Given the description of an element on the screen output the (x, y) to click on. 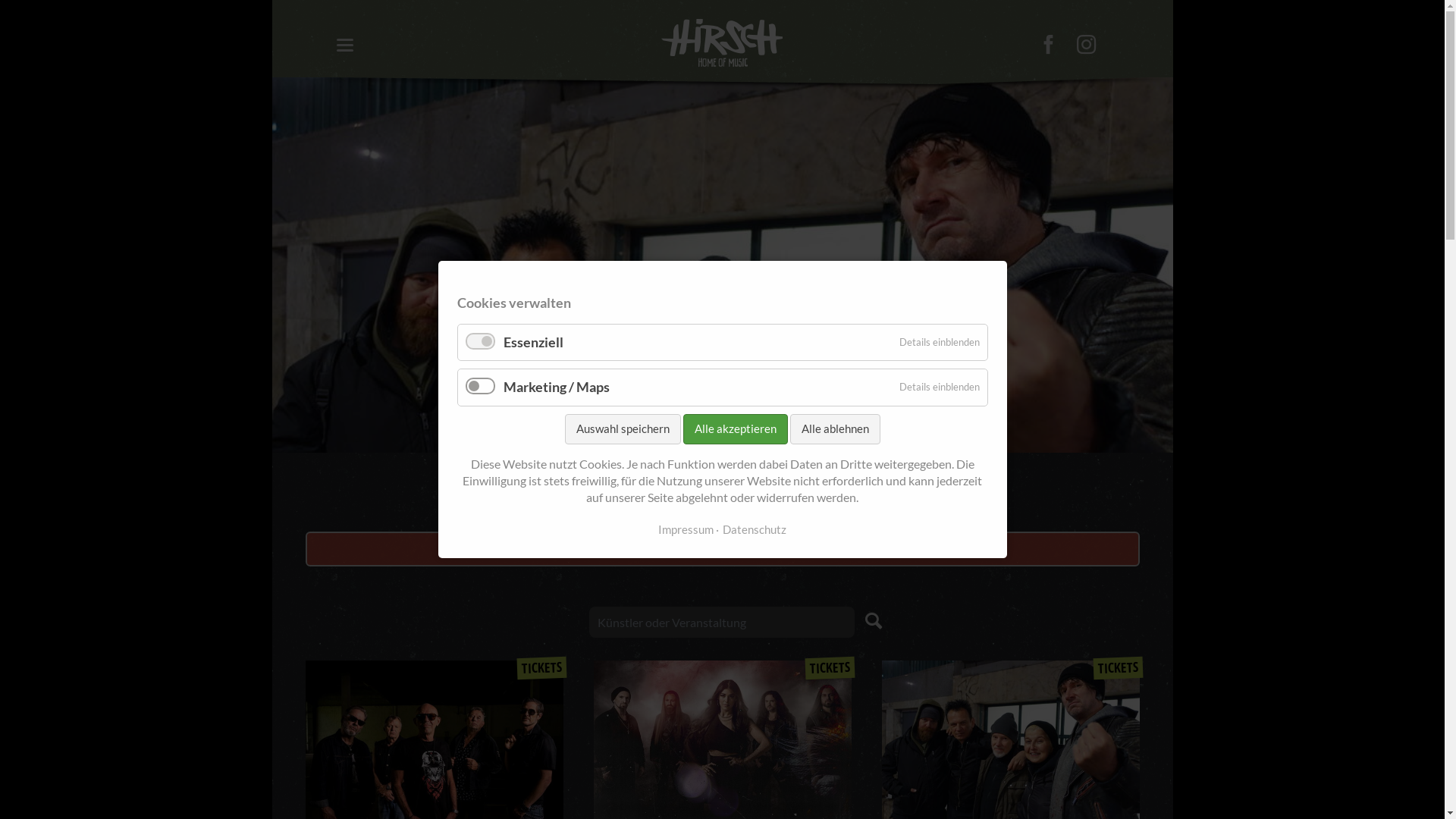
Impressum Element type: text (685, 530)
Alle akzeptieren Element type: text (734, 428)
Auswahl speichern Element type: text (622, 428)
Datenschutz Element type: text (750, 530)
TICKETS Element type: text (828, 666)
TICKETS Element type: text (1117, 666)
navigation Element type: text (343, 44)
Alle ablehnen Element type: text (835, 428)
Details einblenden Element type: text (939, 387)
TICKETS Element type: text (540, 666)
Details einblenden Element type: text (939, 342)
